Given the description of an element on the screen output the (x, y) to click on. 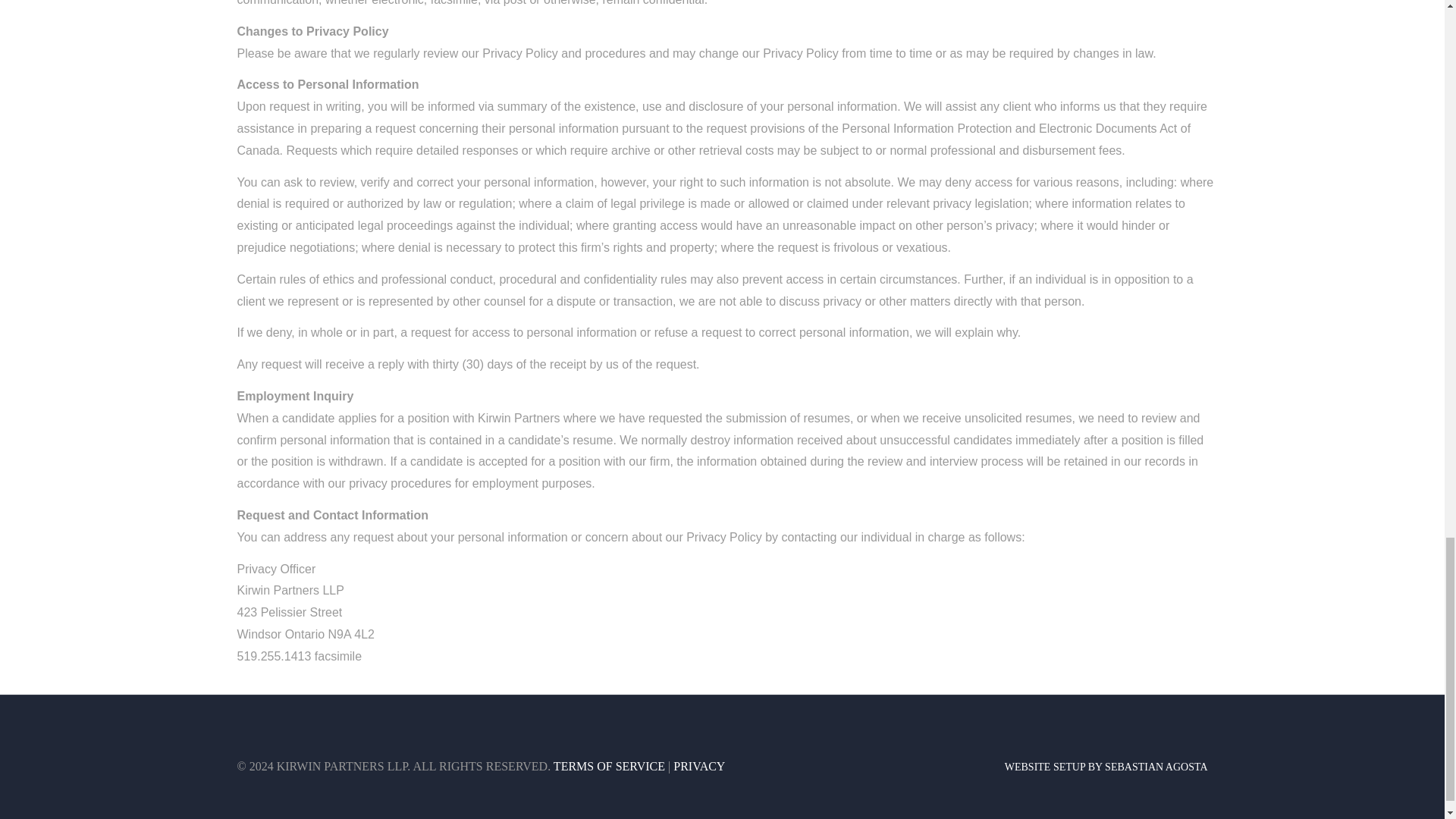
TERMS OF SERVICE (609, 766)
WEBSITE SETUP BY SEBASTIAN AGOSTA (1106, 767)
PRIVACY (698, 766)
